Given the description of an element on the screen output the (x, y) to click on. 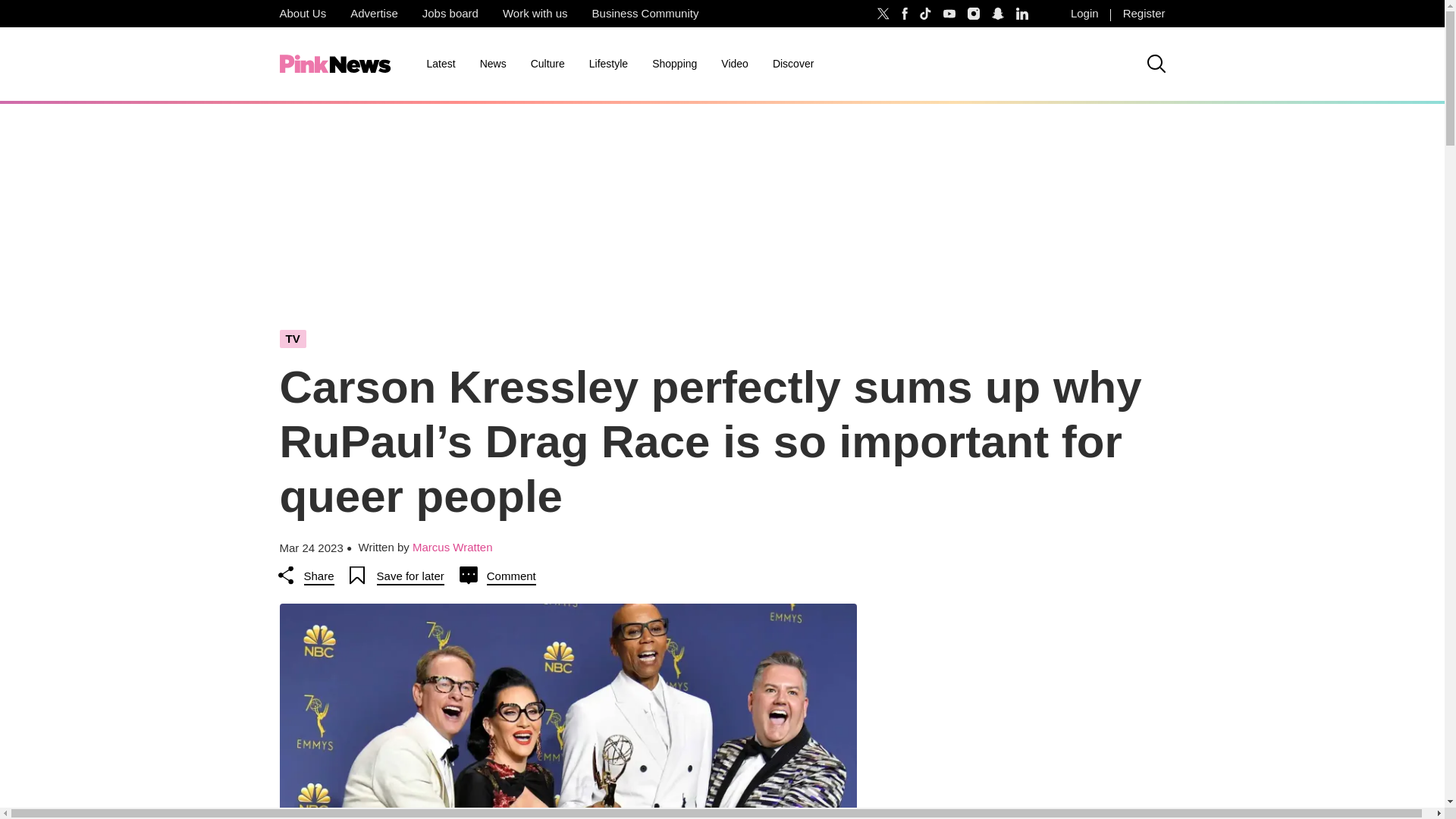
Login (1084, 13)
Business Community (645, 13)
Work with us (534, 13)
Register (1143, 13)
Jobs board (450, 13)
Lifestyle (608, 63)
Advertise (373, 13)
Latest (440, 63)
About Us (301, 13)
Culture (547, 63)
